Given the description of an element on the screen output the (x, y) to click on. 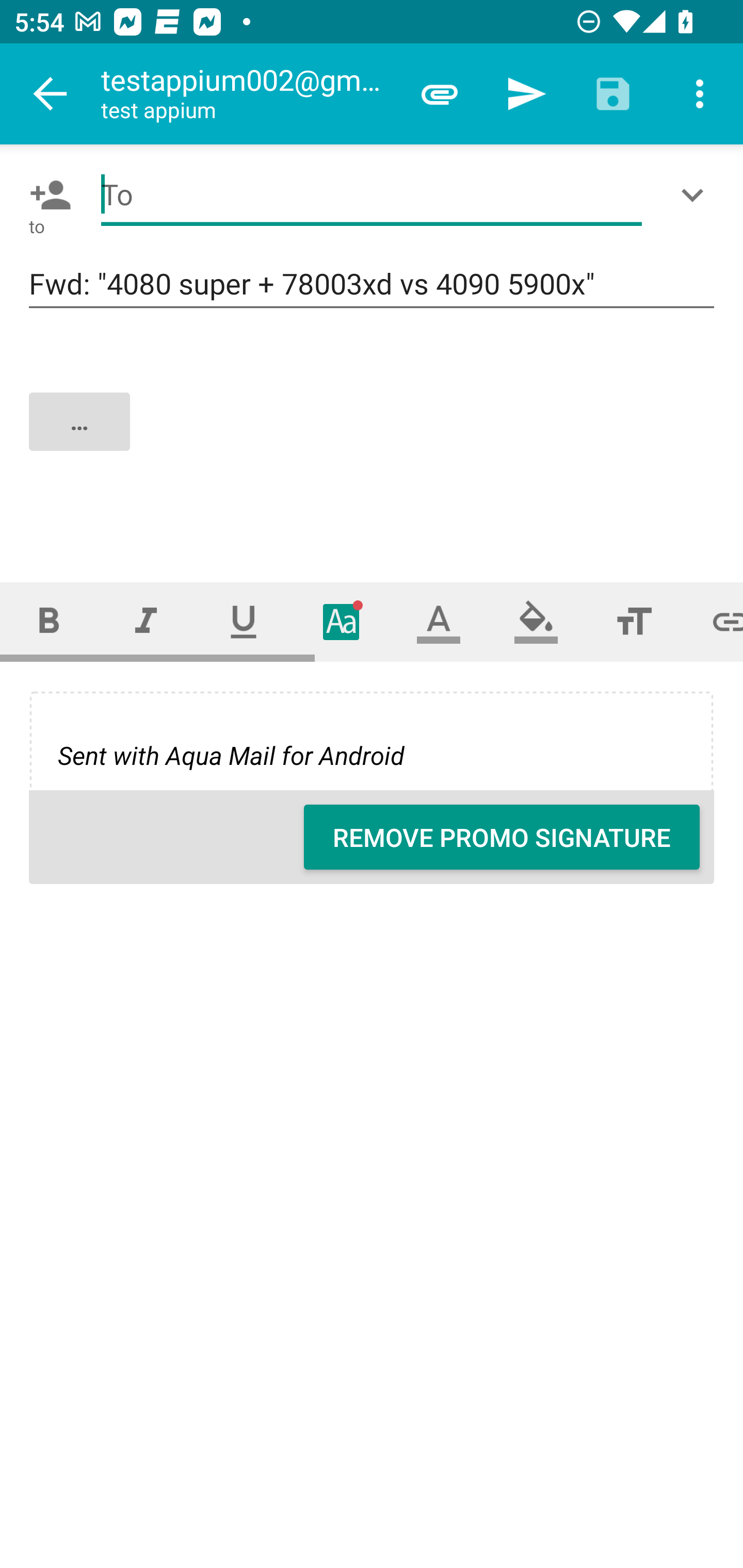
Navigate up (50, 93)
testappium002@gmail.com test appium (248, 93)
Attach (439, 93)
Send (525, 93)
Save (612, 93)
More options (699, 93)
Pick contact: To (46, 195)
Show/Add CC/BCC (696, 195)
To (371, 195)
Fwd: "4080 super + 78003xd vs 4090 5900x" (371, 284)

…
 (372, 438)
Bold (48, 621)
Italic (145, 621)
Underline (243, 621)
Typeface (font) (341, 621)
Text color (438, 621)
Fill color (536, 621)
Font size (633, 621)
Set link (712, 621)
REMOVE PROMO SIGNATURE (501, 837)
